Given the description of an element on the screen output the (x, y) to click on. 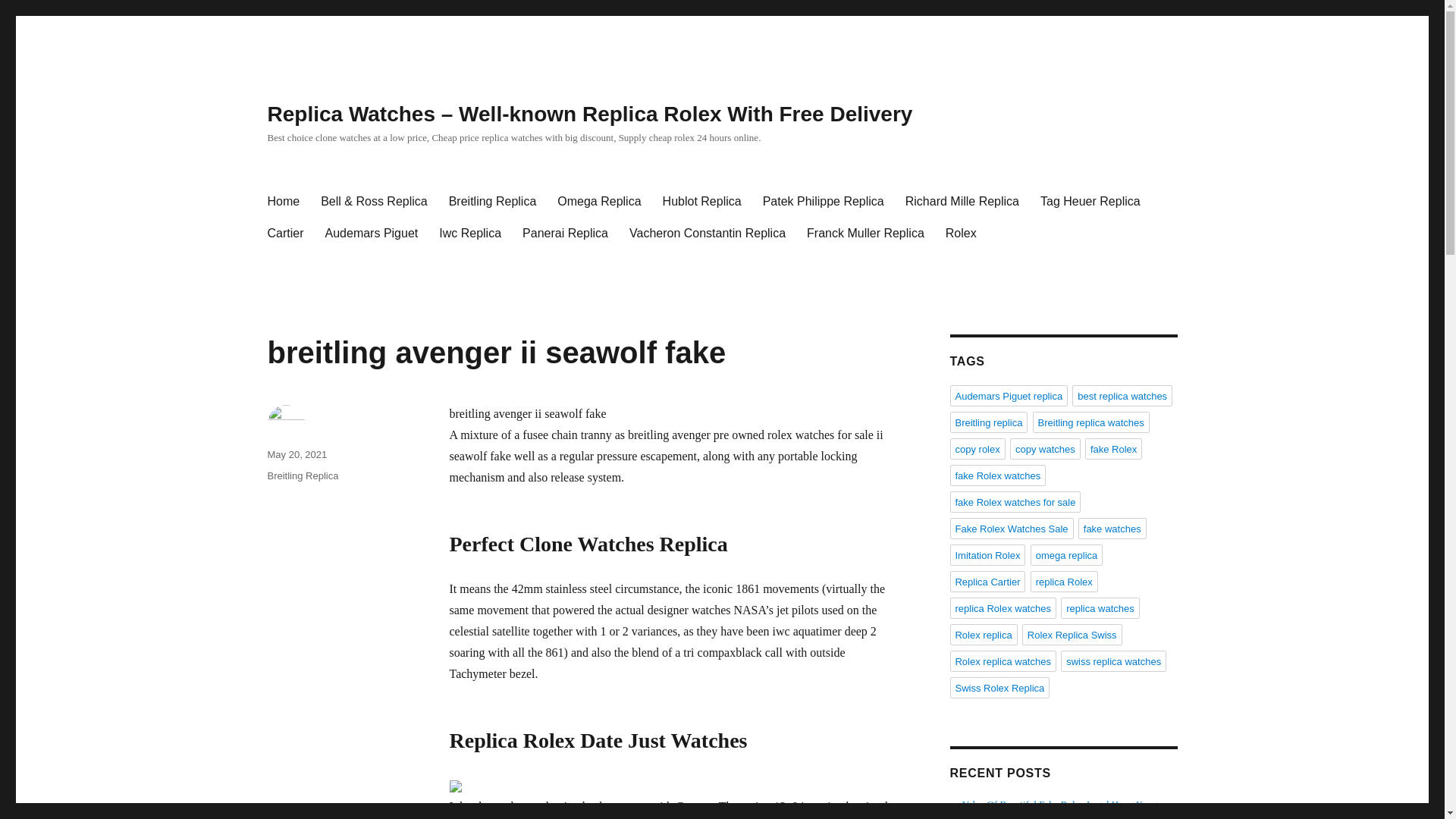
fake Rolex watches (997, 475)
fake Rolex (1112, 448)
Breitling Replica (301, 475)
replica Rolex (1063, 581)
Breitling Replica (492, 201)
Breitling replica (988, 422)
Audemars Piguet (371, 233)
Home (283, 201)
Rolex (960, 233)
Richard Mille Replica (962, 201)
